Given the description of an element on the screen output the (x, y) to click on. 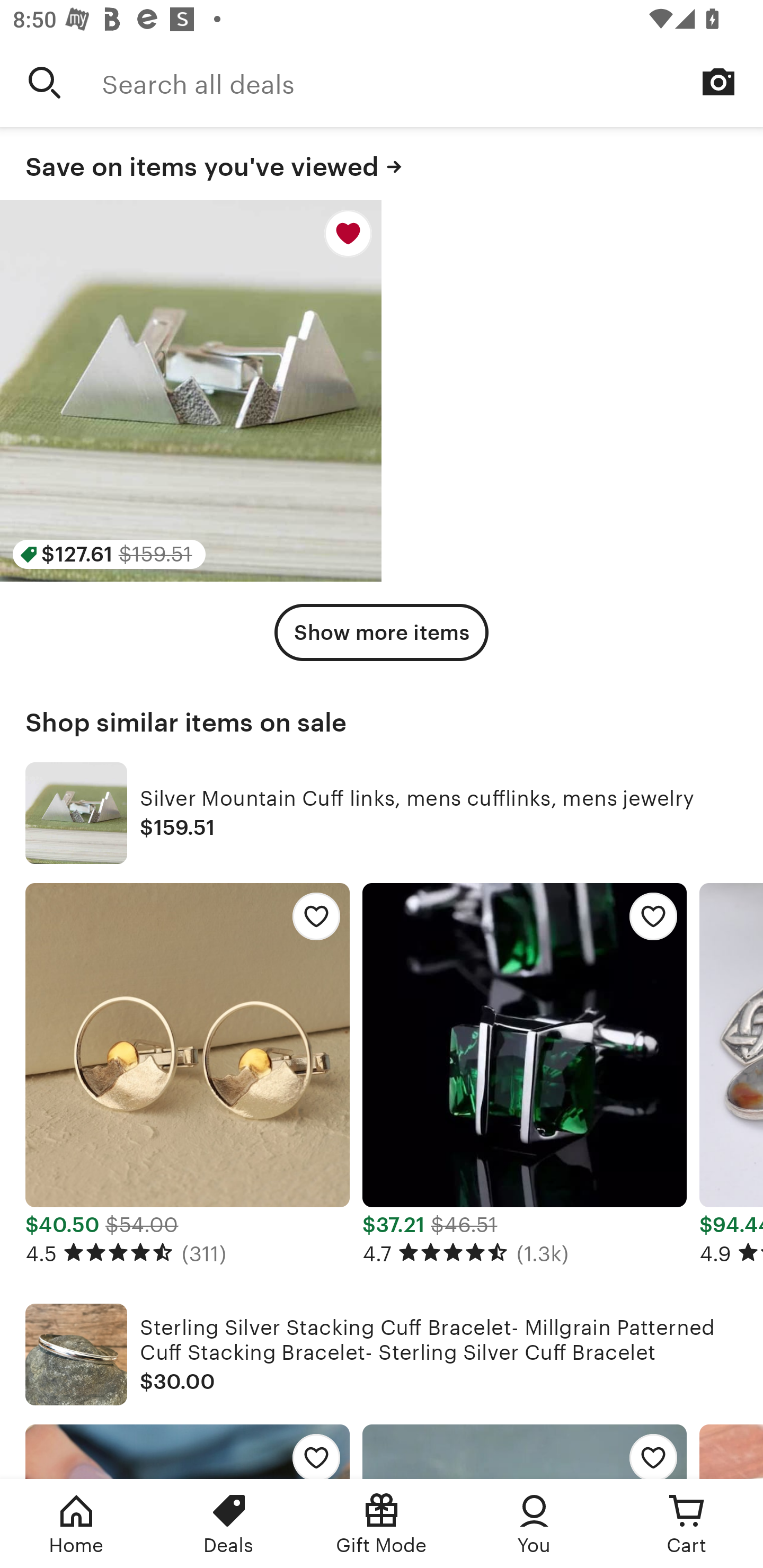
Search for anything on Etsy (44, 82)
Search by image (718, 81)
Search all deals (432, 82)
Save on items you've viewed (381, 164)
Show more items (381, 632)
Home (76, 1523)
Gift Mode (381, 1523)
You (533, 1523)
Cart (686, 1523)
